Given the description of an element on the screen output the (x, y) to click on. 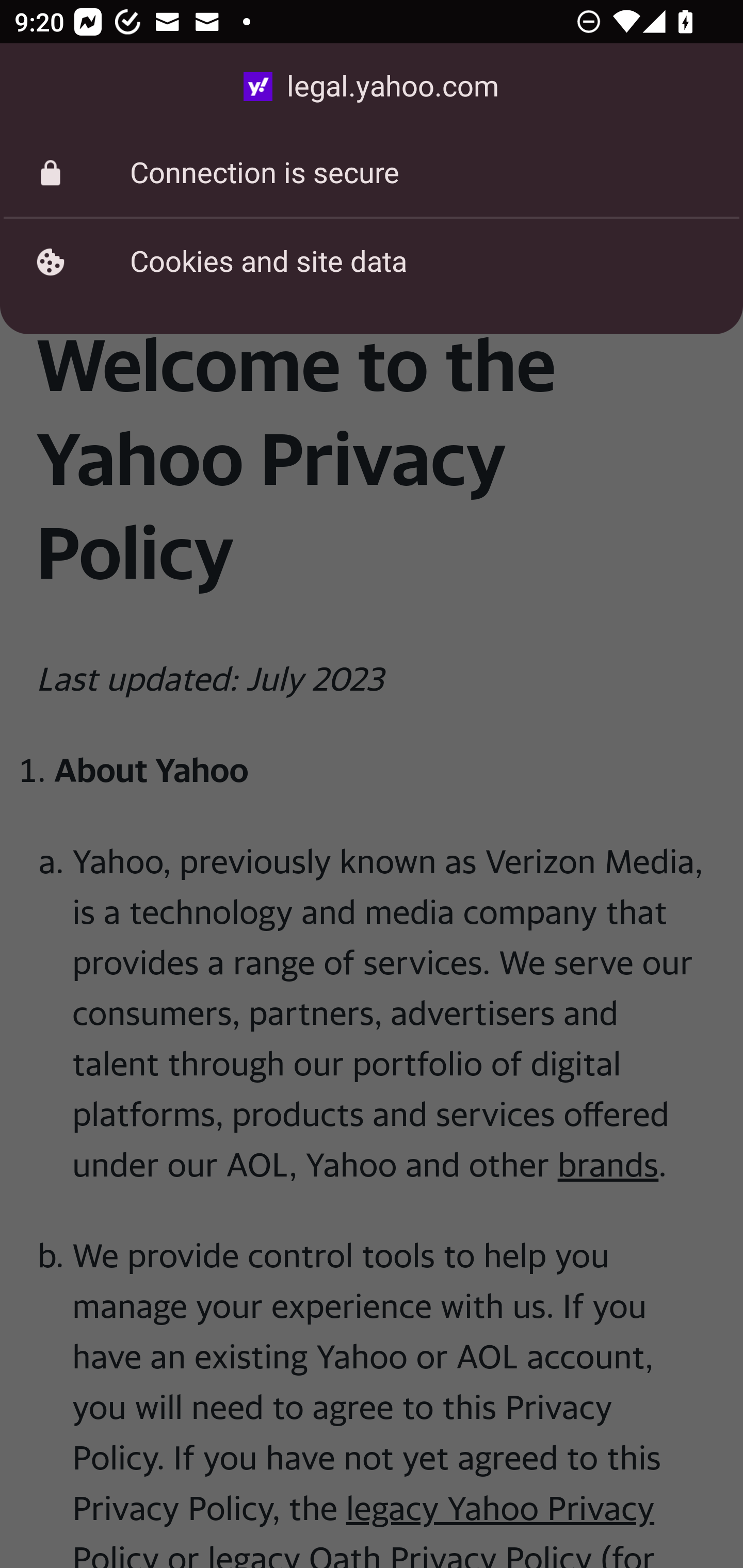
legal.yahoo.com (371, 86)
Connection is secure (371, 173)
Cookies and site data (371, 261)
